Given the description of an element on the screen output the (x, y) to click on. 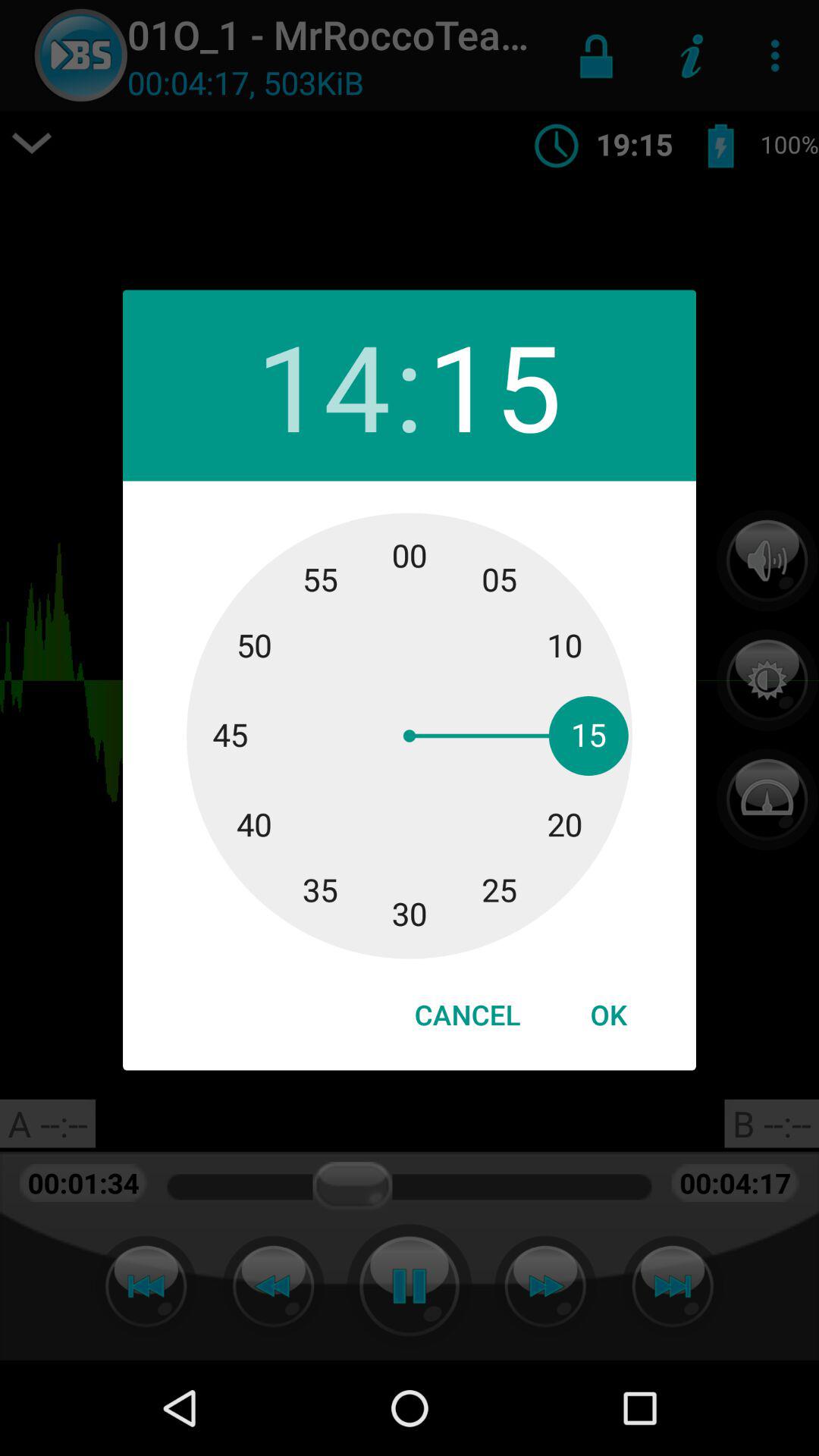
scroll to cancel (467, 1014)
